Given the description of an element on the screen output the (x, y) to click on. 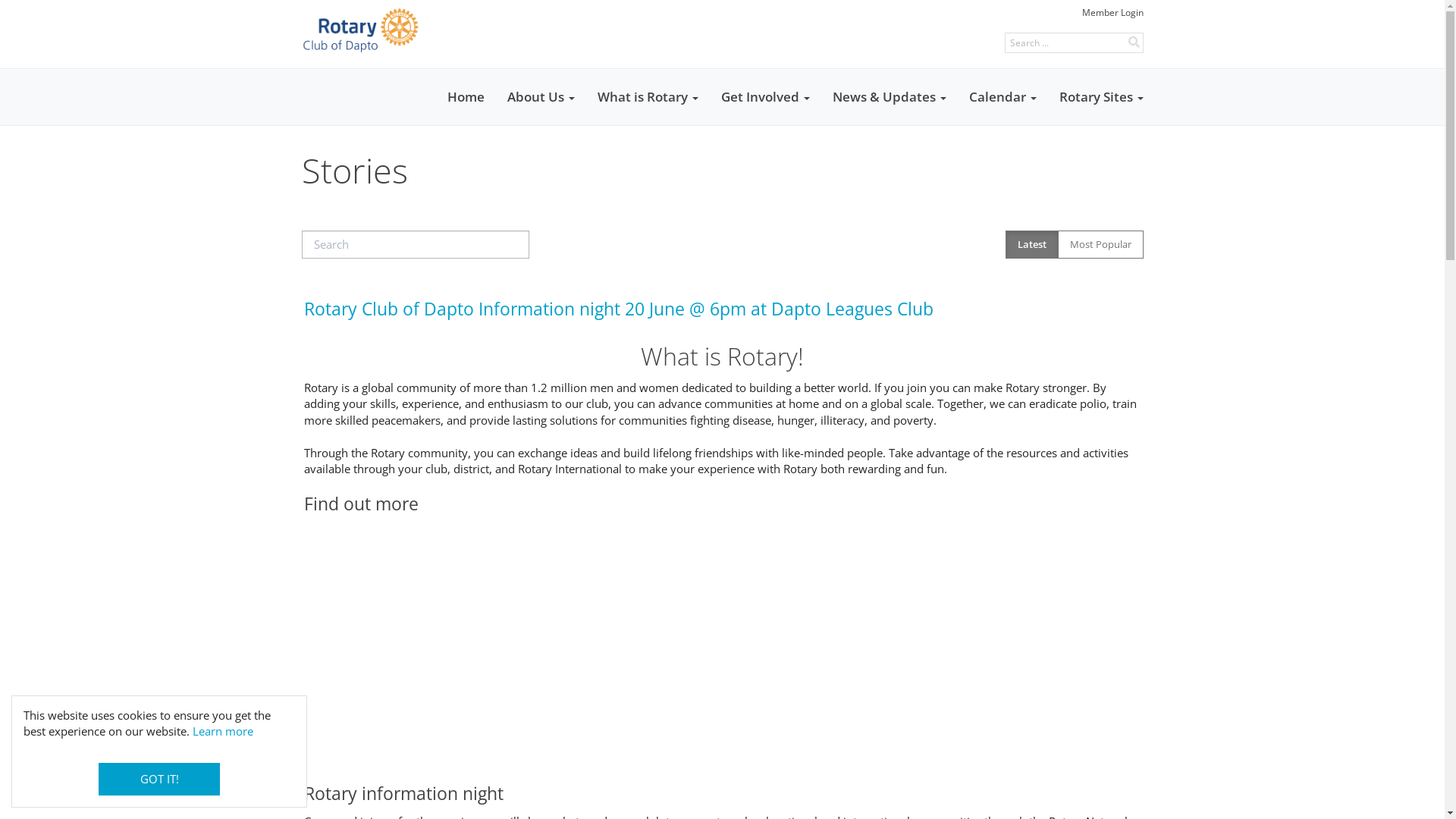
Member Login Element type: text (1111, 12)
Calendar Element type: text (1002, 96)
YouTube video player Element type: hover (721, 643)
Most Popular Element type: text (1099, 244)
What is Rotary Element type: text (647, 96)
Get Involved Element type: text (765, 96)
Latest Element type: text (1031, 244)
News & Updates Element type: text (888, 96)
Learn more Element type: text (222, 730)
Rotary Sites Element type: text (1101, 96)
GOT IT! Element type: text (158, 778)
Home Element type: text (465, 96)
About Us Element type: text (540, 96)
